Given the description of an element on the screen output the (x, y) to click on. 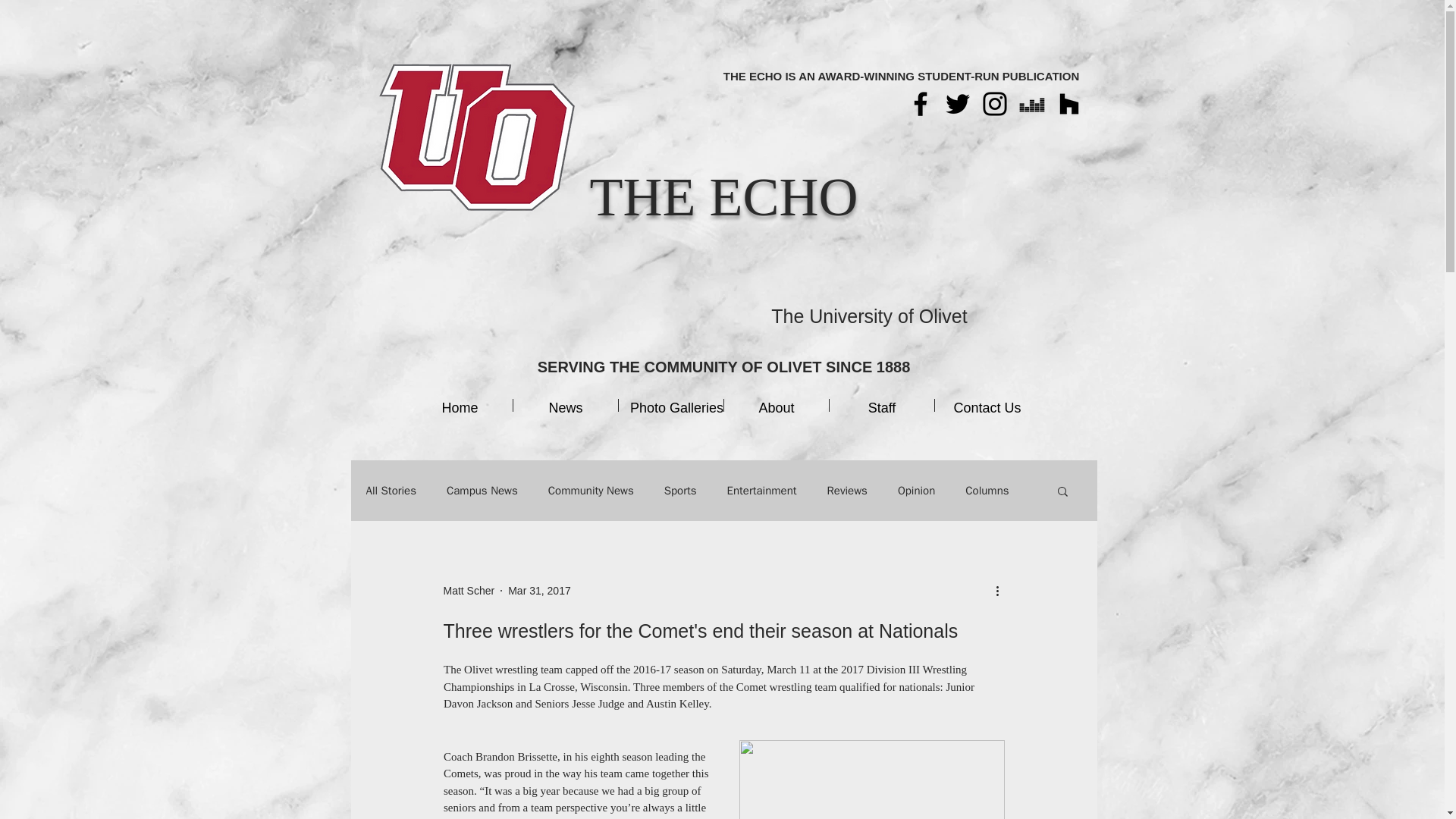
Sports (680, 490)
THE ECHO (724, 196)
Matt Scher (468, 590)
All Stories (390, 490)
News (565, 404)
Photo Galleries (670, 404)
Columns (987, 490)
Community News (590, 490)
About (775, 404)
Contact Us (986, 404)
Entertainment (761, 490)
Opinion (916, 490)
Mar 31, 2017 (539, 589)
Staff (881, 404)
Reviews (847, 490)
